Given the description of an element on the screen output the (x, y) to click on. 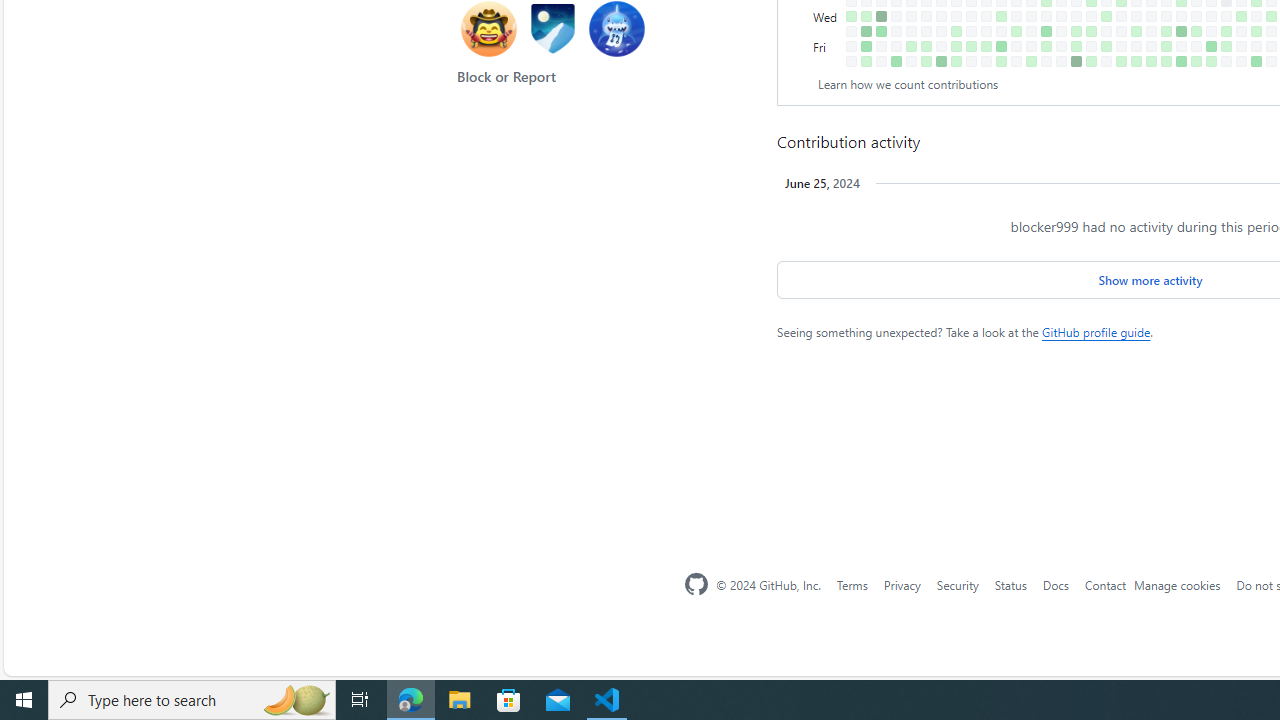
No contributions on May 23rd. (1151, 30)
1 contribution on May 11th. (1121, 61)
No contributions on July 10th. (1256, 16)
Security (957, 584)
No contributions on February 21st. (956, 16)
No contributions on March 7th. (986, 30)
No contributions on February 7th. (926, 16)
Contact (1105, 584)
1 contribution on May 25th. (1151, 61)
No contributions on June 26th. (1226, 16)
No contributions on July 18th. (1271, 30)
No contributions on January 6th. (851, 61)
Block or Report (505, 76)
No contributions on April 26th. (1090, 46)
2 contributions on May 1st. (1106, 16)
